Given the description of an element on the screen output the (x, y) to click on. 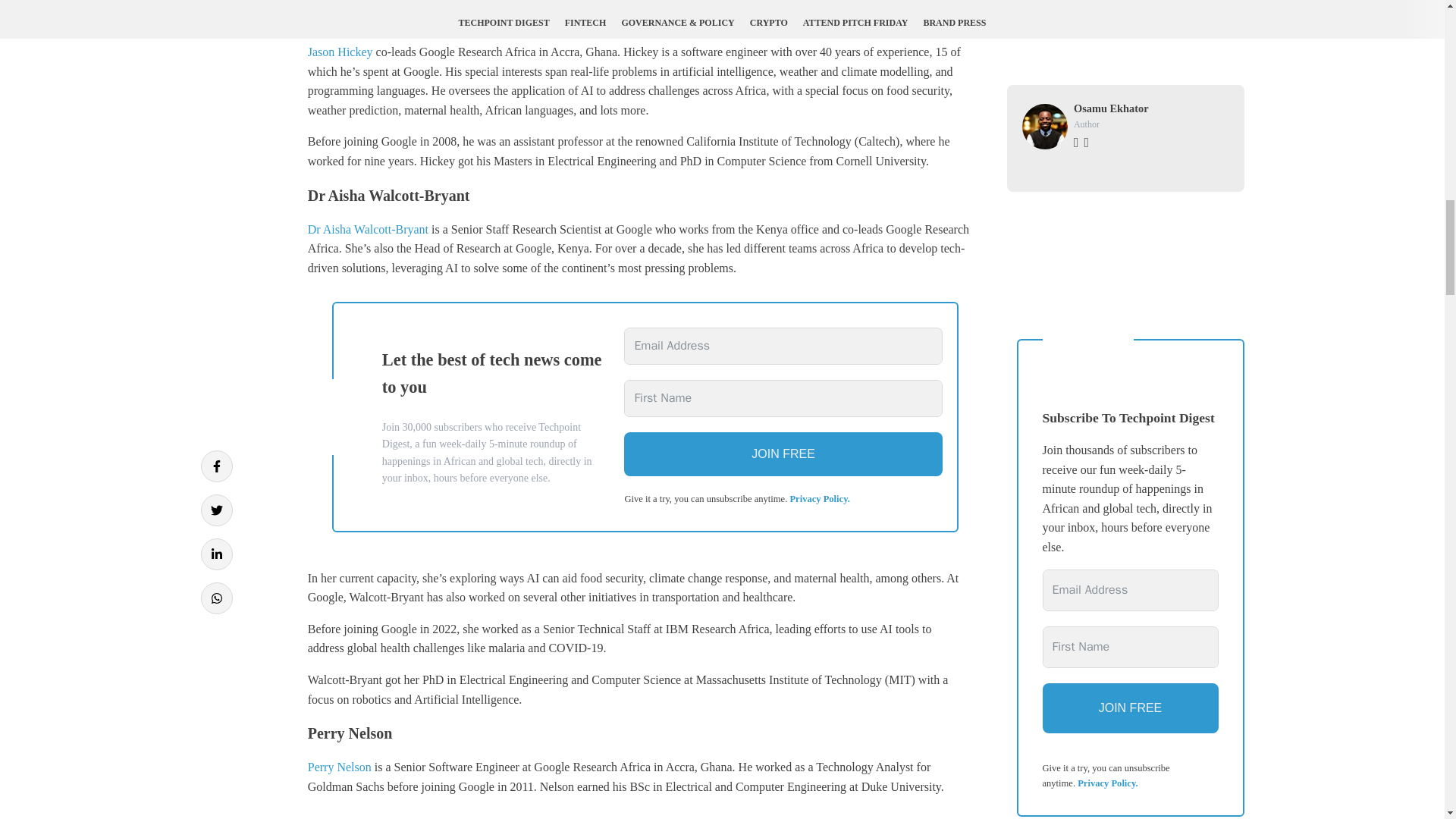
JOIN FREE (783, 453)
Privacy Policy. (818, 498)
Perry Nelson (339, 766)
Dr Aisha Walcott-Bryant (367, 228)
Jason Hickey (339, 51)
